Given the description of an element on the screen output the (x, y) to click on. 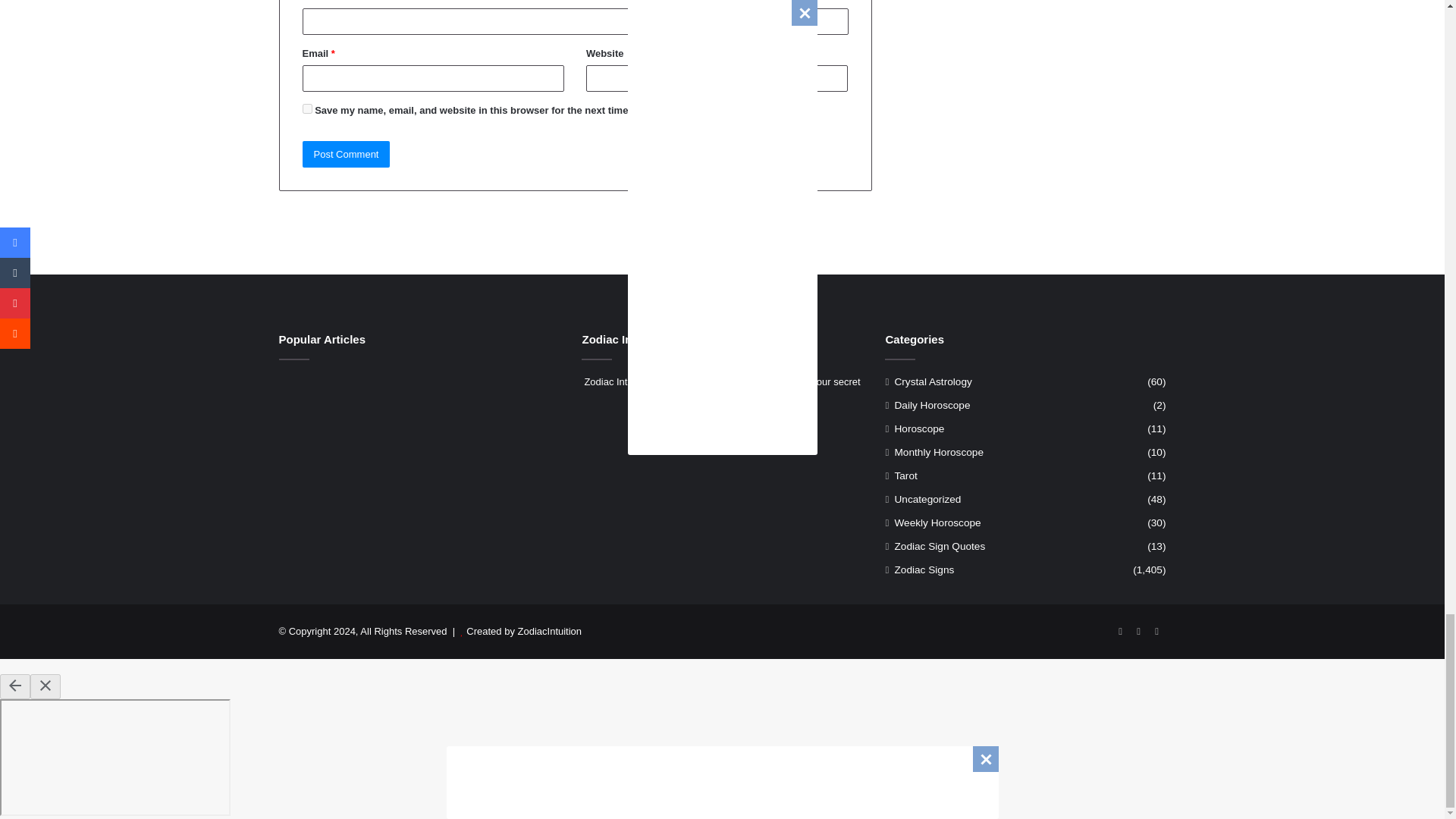
yes (306, 108)
Post Comment (345, 153)
